Given the description of an element on the screen output the (x, y) to click on. 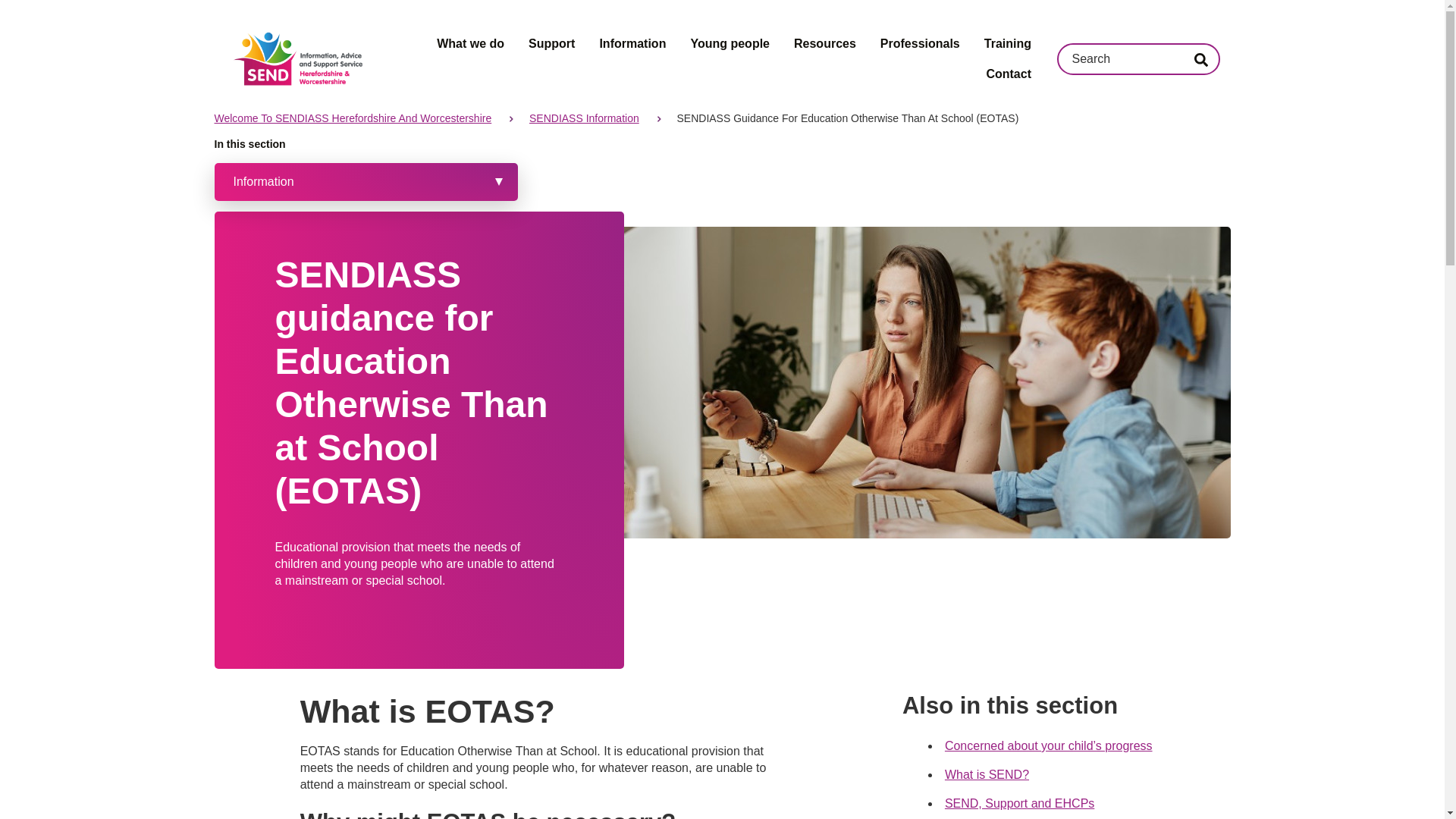
Search (1200, 59)
Training (1007, 43)
SENDIASS Information (584, 118)
Young people (729, 43)
Contact (1008, 73)
Professionals (920, 43)
Information (632, 43)
Concerned about your child's progress? (1048, 745)
What is SEND? (986, 774)
Support (551, 43)
